Given the description of an element on the screen output the (x, y) to click on. 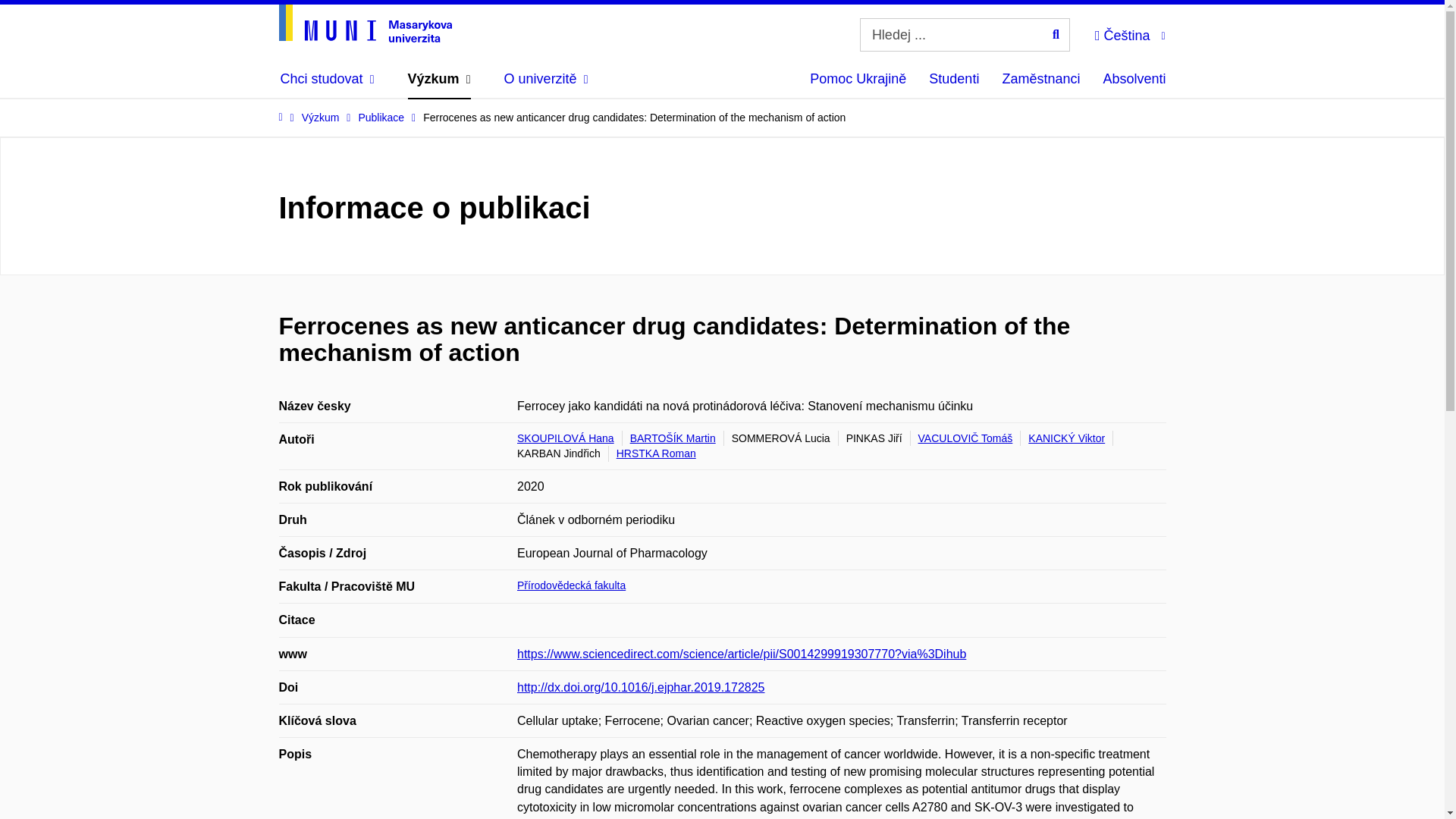
Homepage webu (365, 23)
Chci studovat (327, 78)
